Given the description of an element on the screen output the (x, y) to click on. 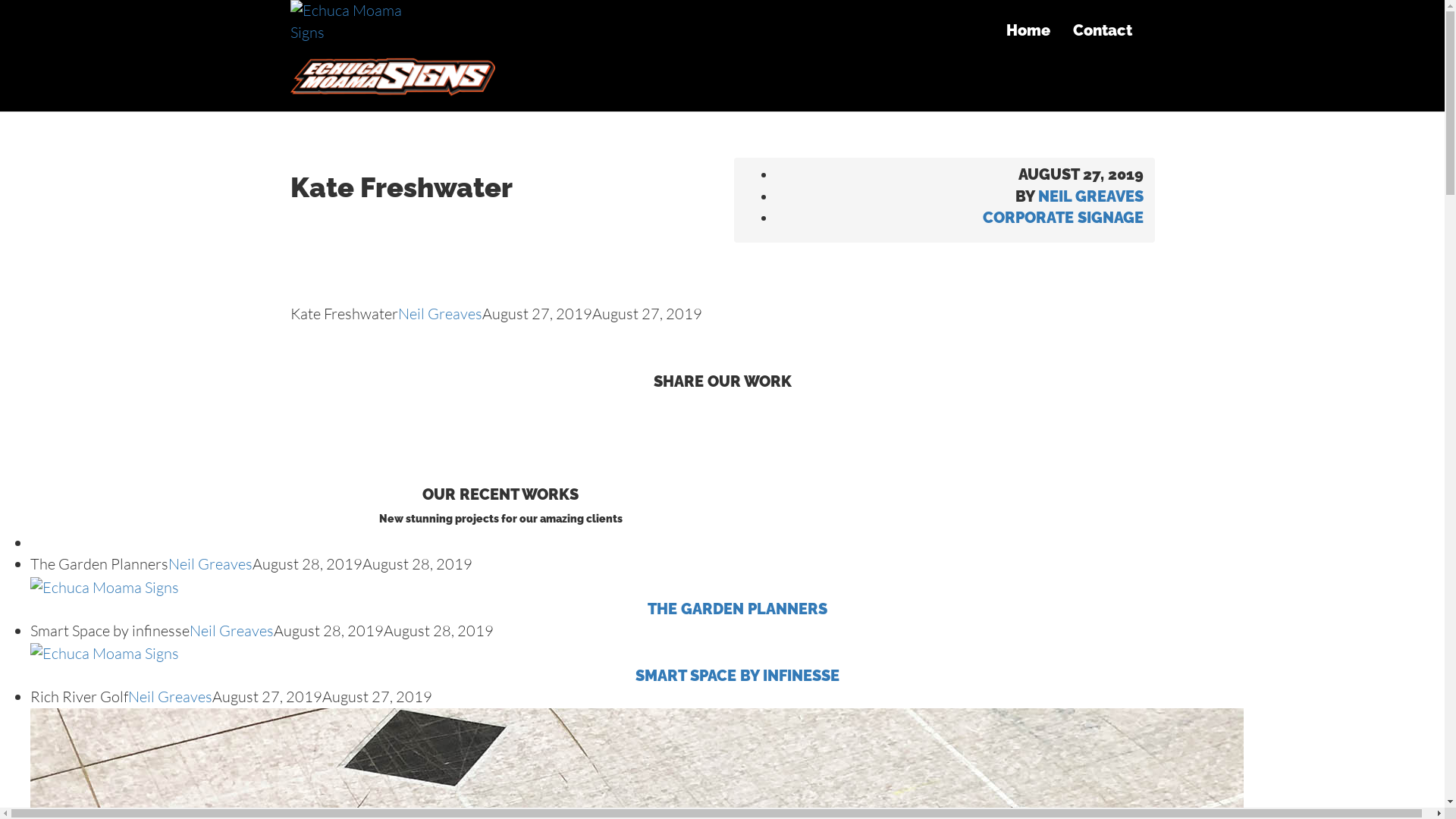
Home Element type: text (1027, 30)
Neil Greaves Element type: text (210, 563)
Neil Greaves Element type: text (231, 630)
Echuca Moama Signs Element type: hover (391, 47)
THE GARDEN PLANNERS Element type: text (737, 597)
Neil Greaves Element type: text (170, 696)
NEIL GREAVES Element type: text (1089, 196)
CORPORATE SIGNAGE Element type: text (1062, 217)
SMART SPACE BY INFINESSE Element type: text (737, 663)
Contact Element type: text (1102, 30)
Neil Greaves Element type: text (439, 313)
